Given the description of an element on the screen output the (x, y) to click on. 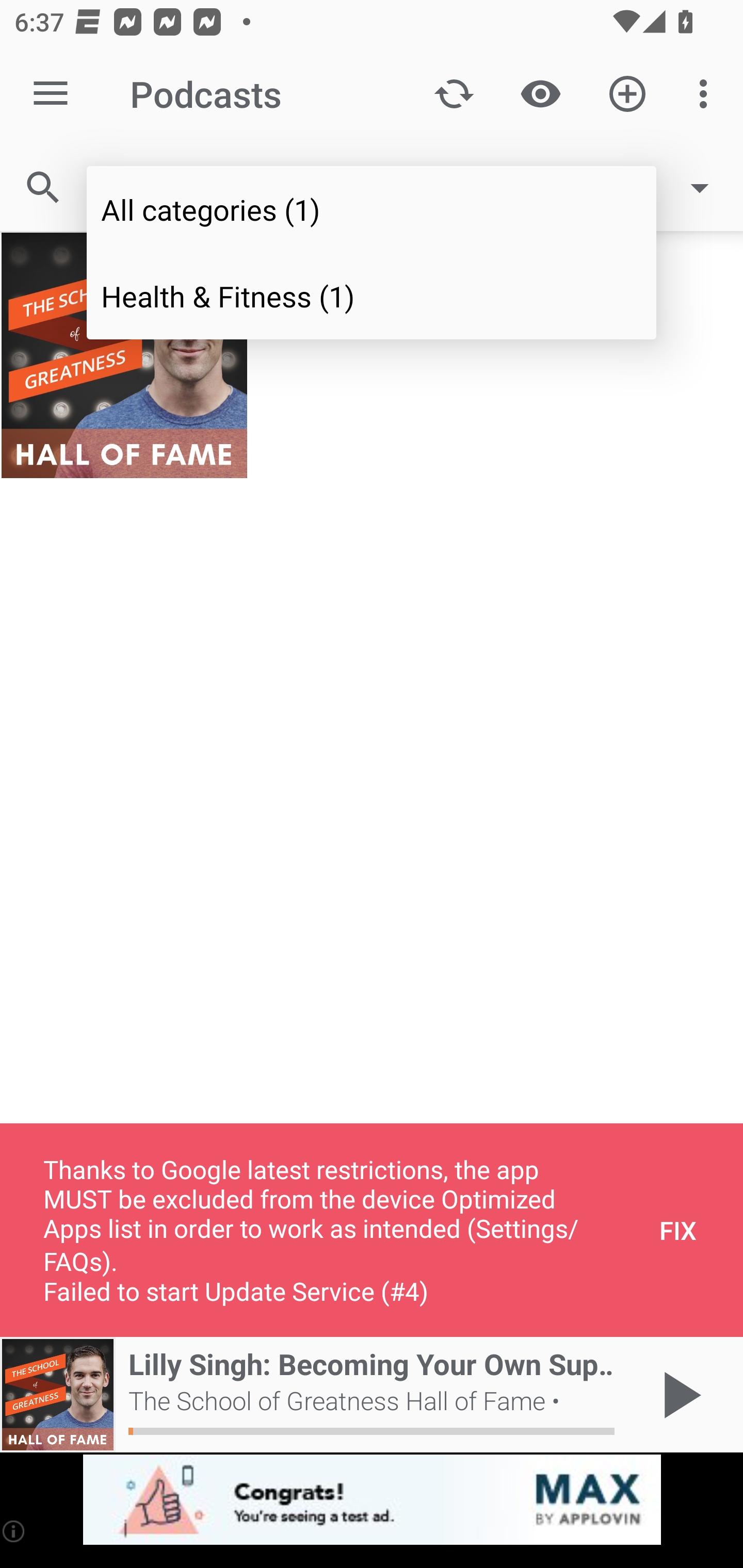
All categories (1) (371, 209)
Health & Fitness (1) (371, 295)
